Given the description of an element on the screen output the (x, y) to click on. 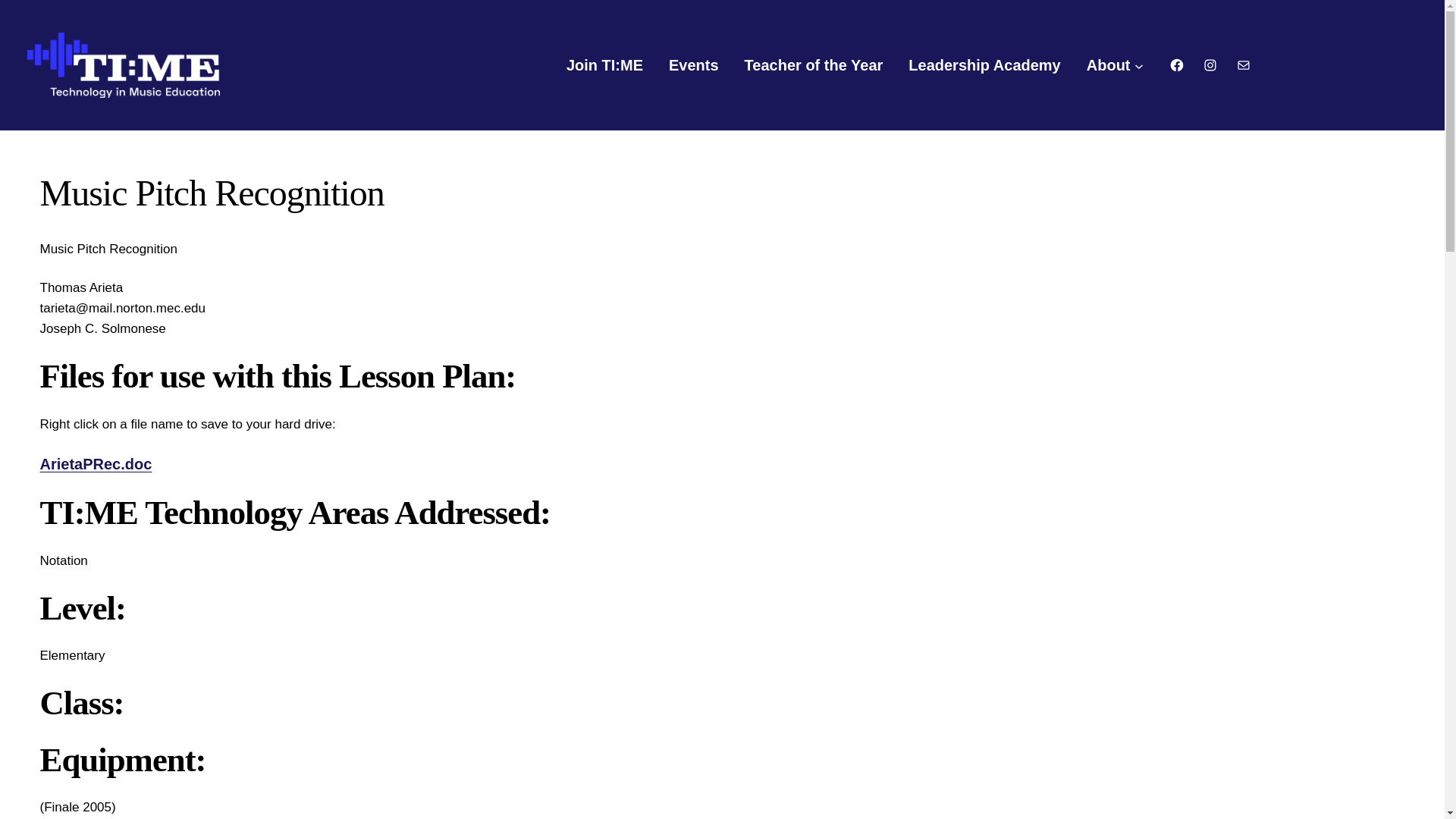
About (1108, 65)
Facebook (1177, 64)
Join TI:ME (604, 65)
Teacher of the Year (813, 65)
Instagram (1209, 64)
Mail (1243, 64)
ArietaPRec.doc (95, 463)
Leadership Academy (983, 65)
Events (693, 65)
